Given the description of an element on the screen output the (x, y) to click on. 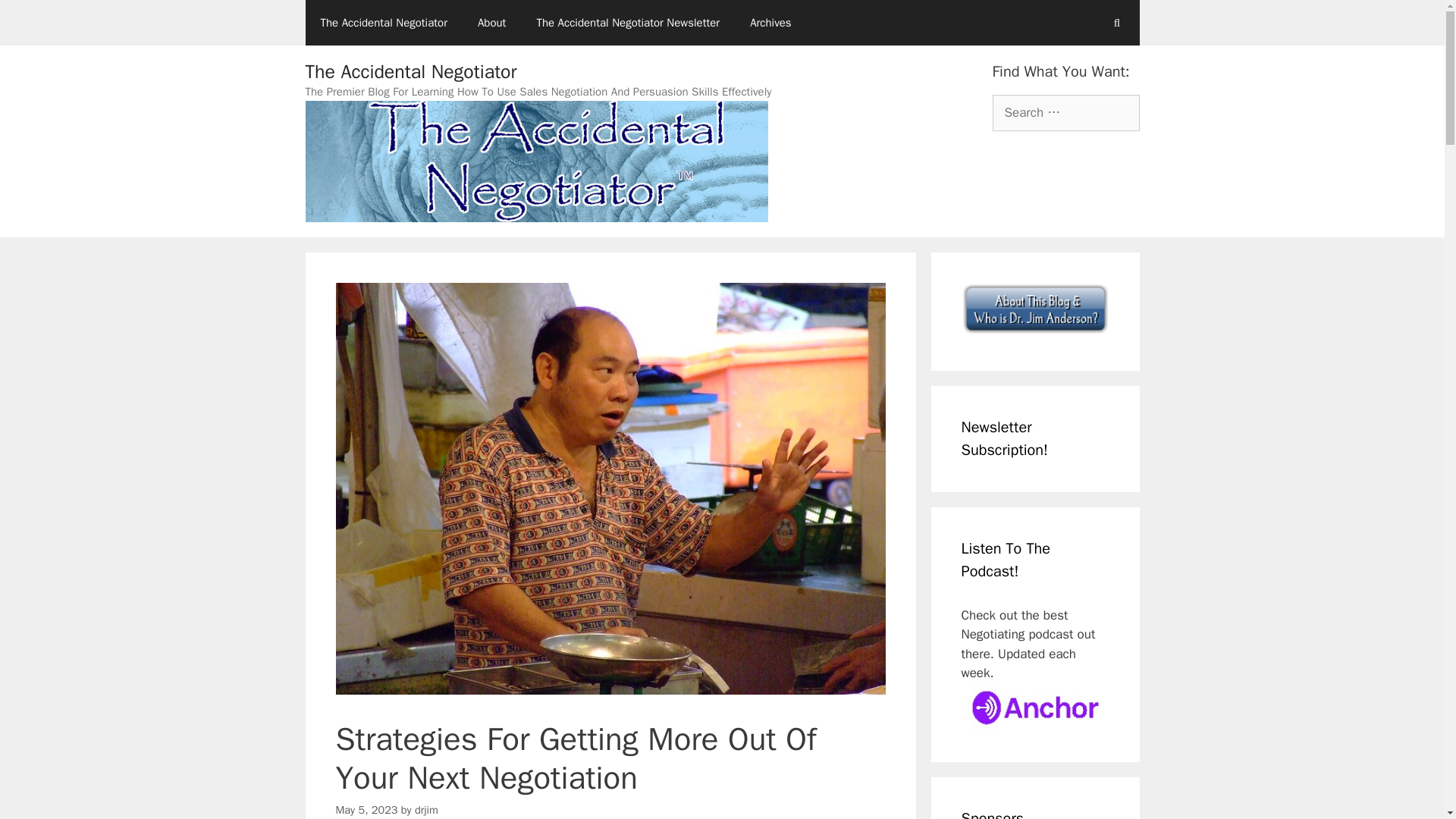
drjim (426, 809)
Archives (770, 22)
About (492, 22)
The Accidental Negotiator (382, 22)
View all posts by drjim (426, 809)
The Accidental Negotiator Newsletter (628, 22)
Search for: (1064, 113)
The Accidental Negotiator (410, 71)
Search (35, 18)
